Given the description of an element on the screen output the (x, y) to click on. 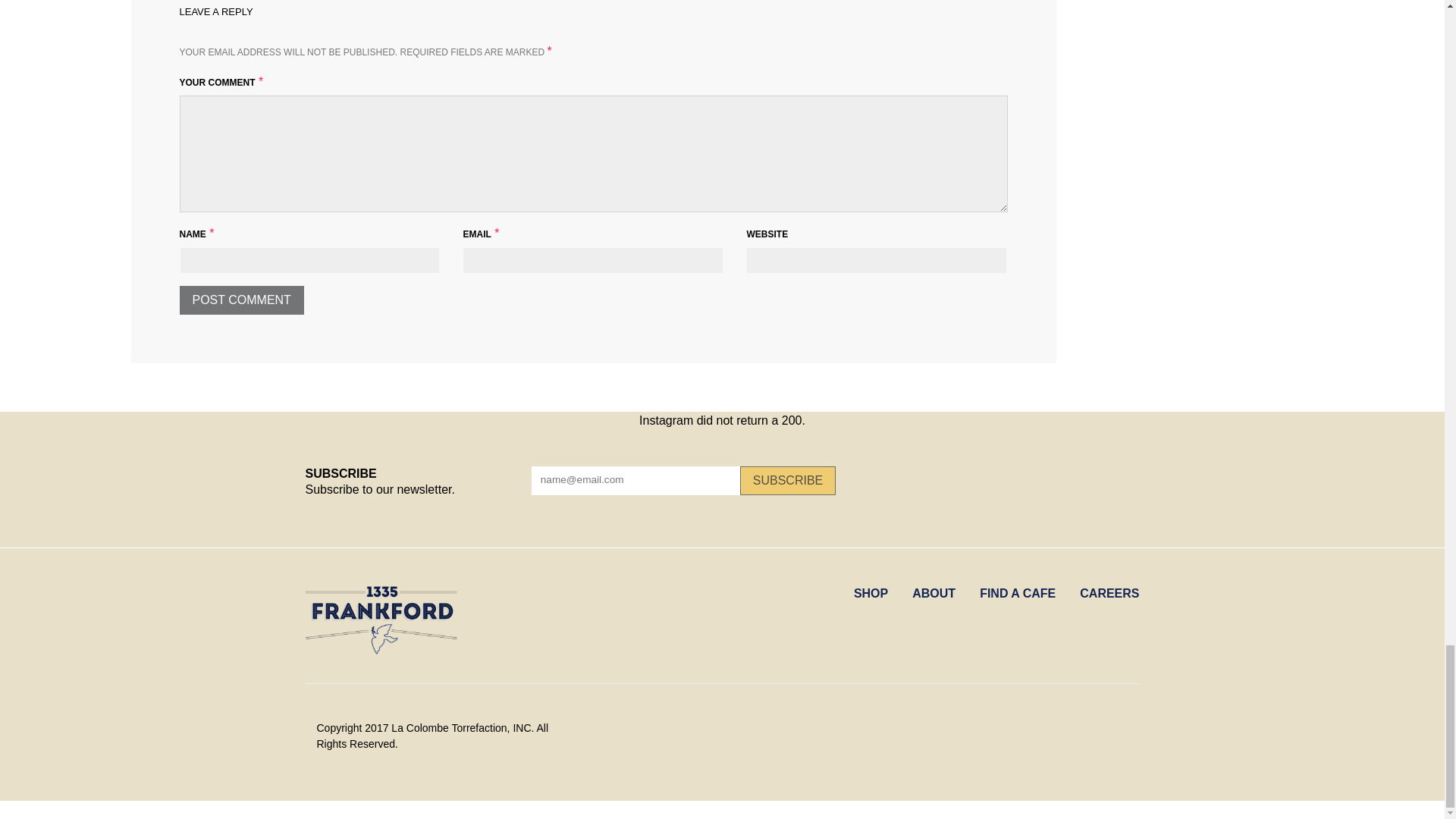
Post Comment (240, 299)
